Given the description of an element on the screen output the (x, y) to click on. 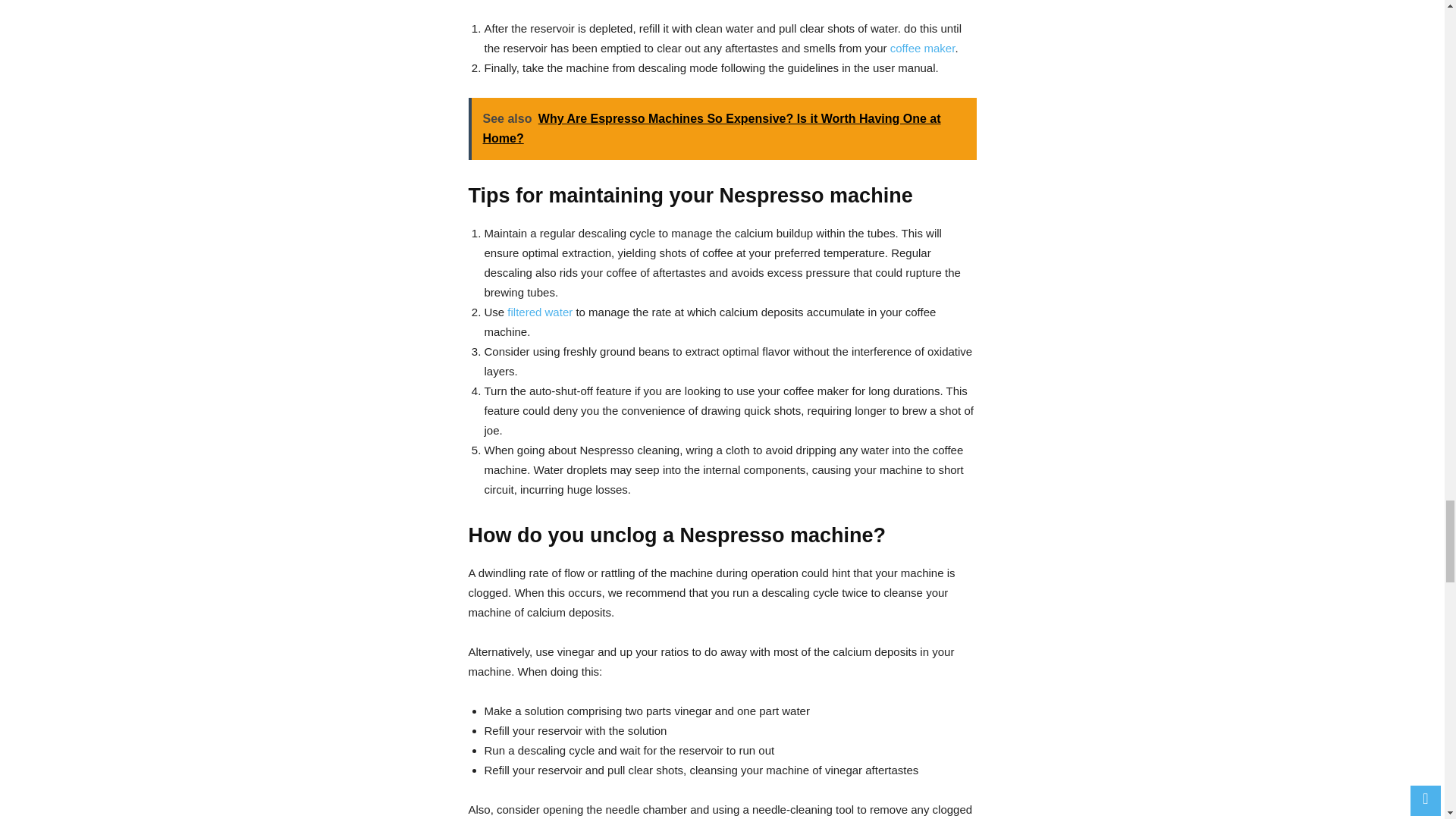
coffee maker (922, 47)
filtered water (539, 311)
